Given the description of an element on the screen output the (x, y) to click on. 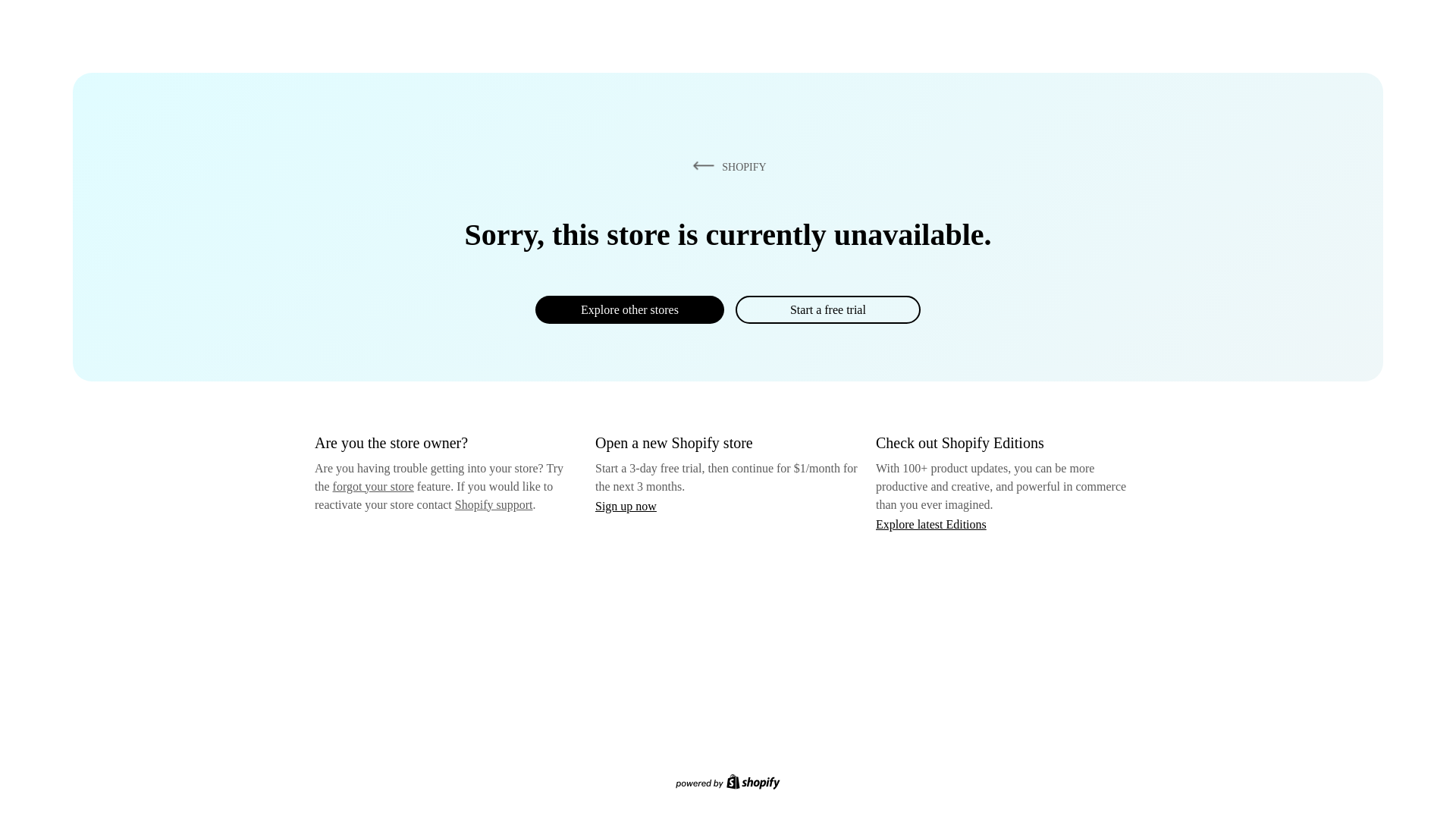
Start a free trial (827, 309)
forgot your store (373, 486)
Explore latest Editions (931, 523)
SHOPIFY (726, 166)
Explore other stores (629, 309)
Sign up now (625, 505)
Shopify support (493, 504)
